Given the description of an element on the screen output the (x, y) to click on. 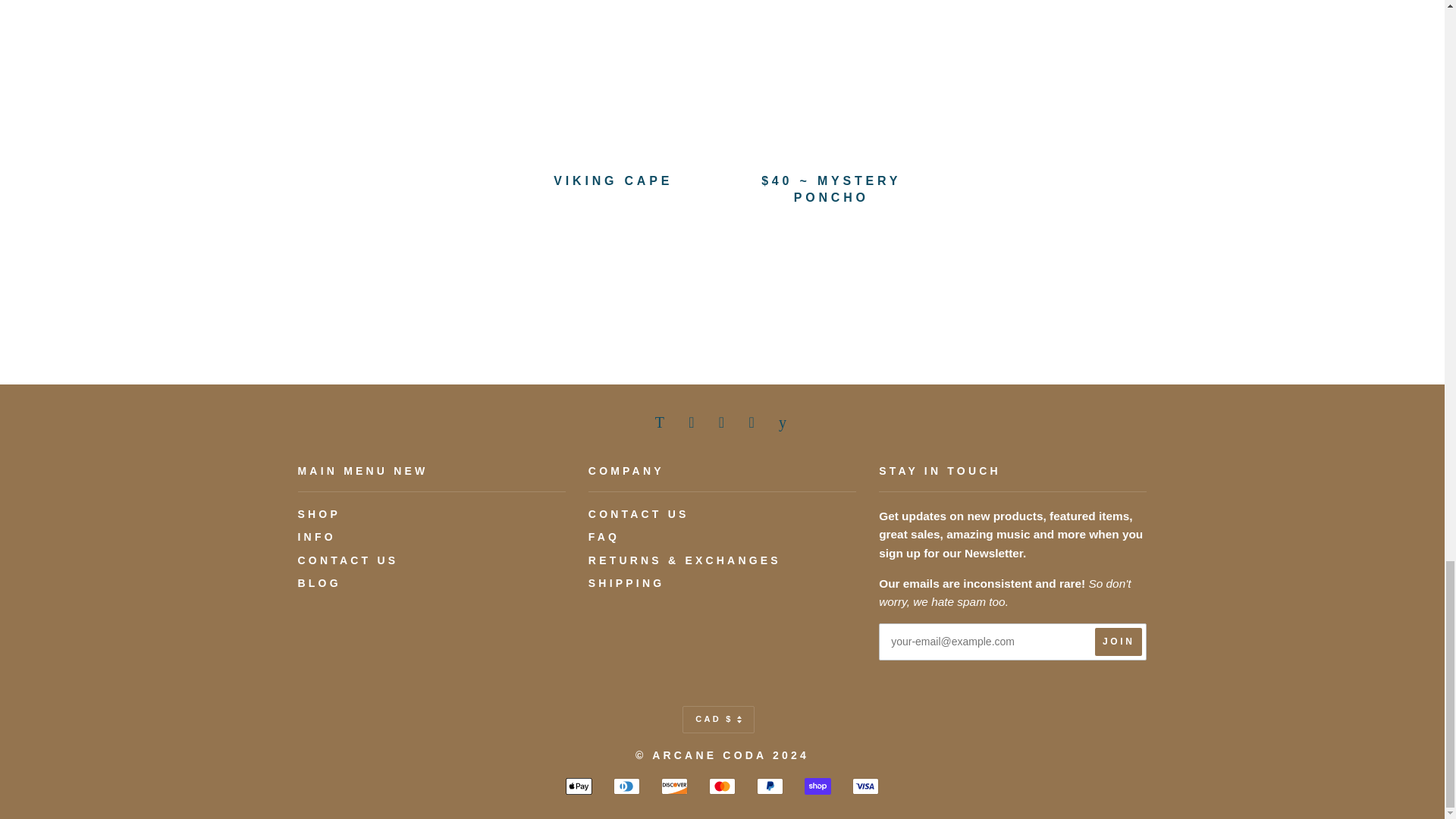
VISA (865, 786)
SHOP PAY (818, 786)
DINERS CLUB (626, 786)
MASTERCARD (722, 786)
APPLE PAY (579, 786)
PAYPAL (770, 786)
Join (1117, 642)
DISCOVER (674, 786)
